Given the description of an element on the screen output the (x, y) to click on. 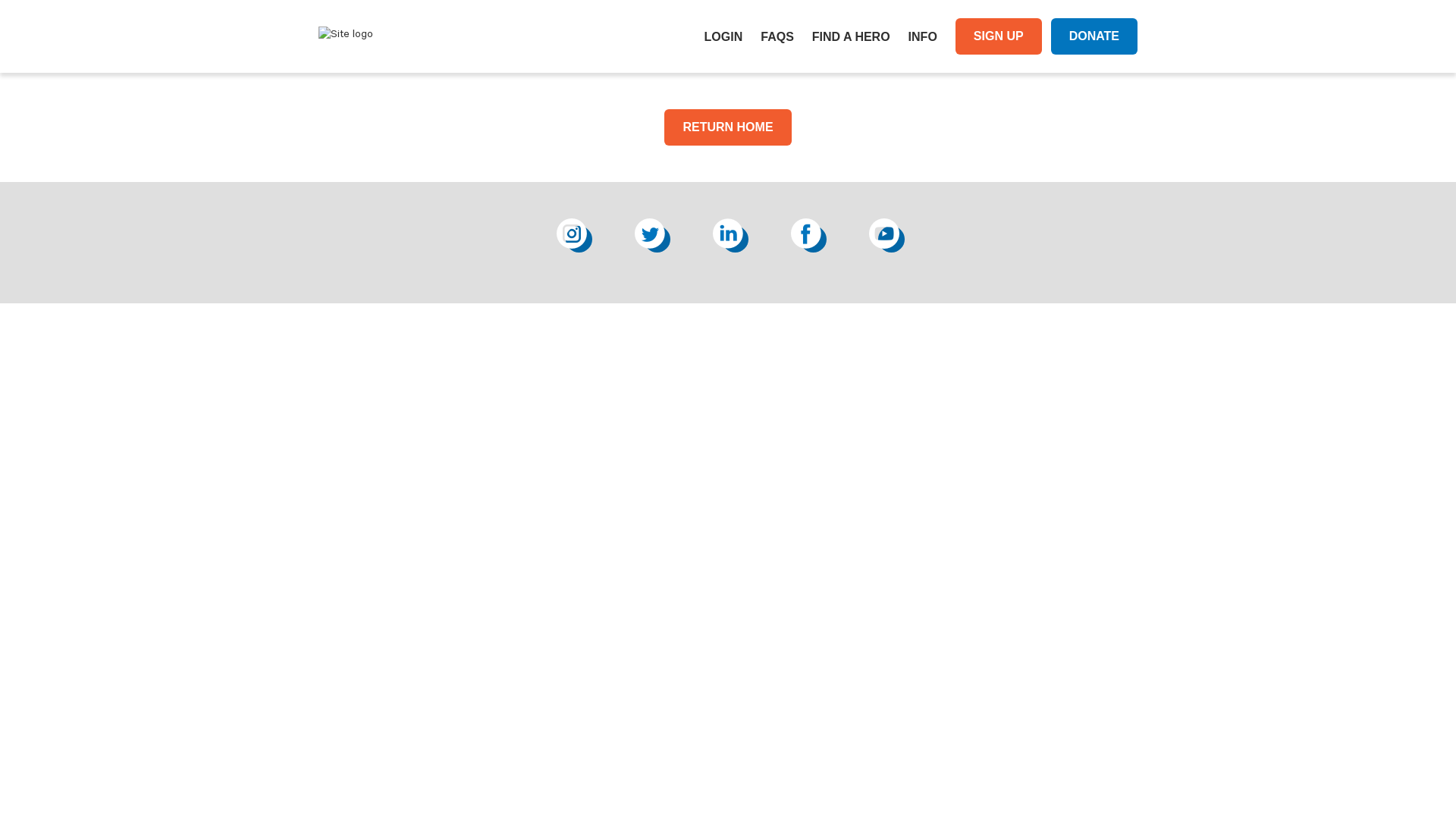
RETURN HOME Element type: text (727, 127)
INFO Element type: text (922, 35)
DONATE Element type: text (1094, 36)
LOGIN Element type: text (723, 35)
FAQS Element type: text (776, 35)
SIGN UP Element type: text (998, 36)
FIND A HERO Element type: text (851, 35)
